Given the description of an element on the screen output the (x, y) to click on. 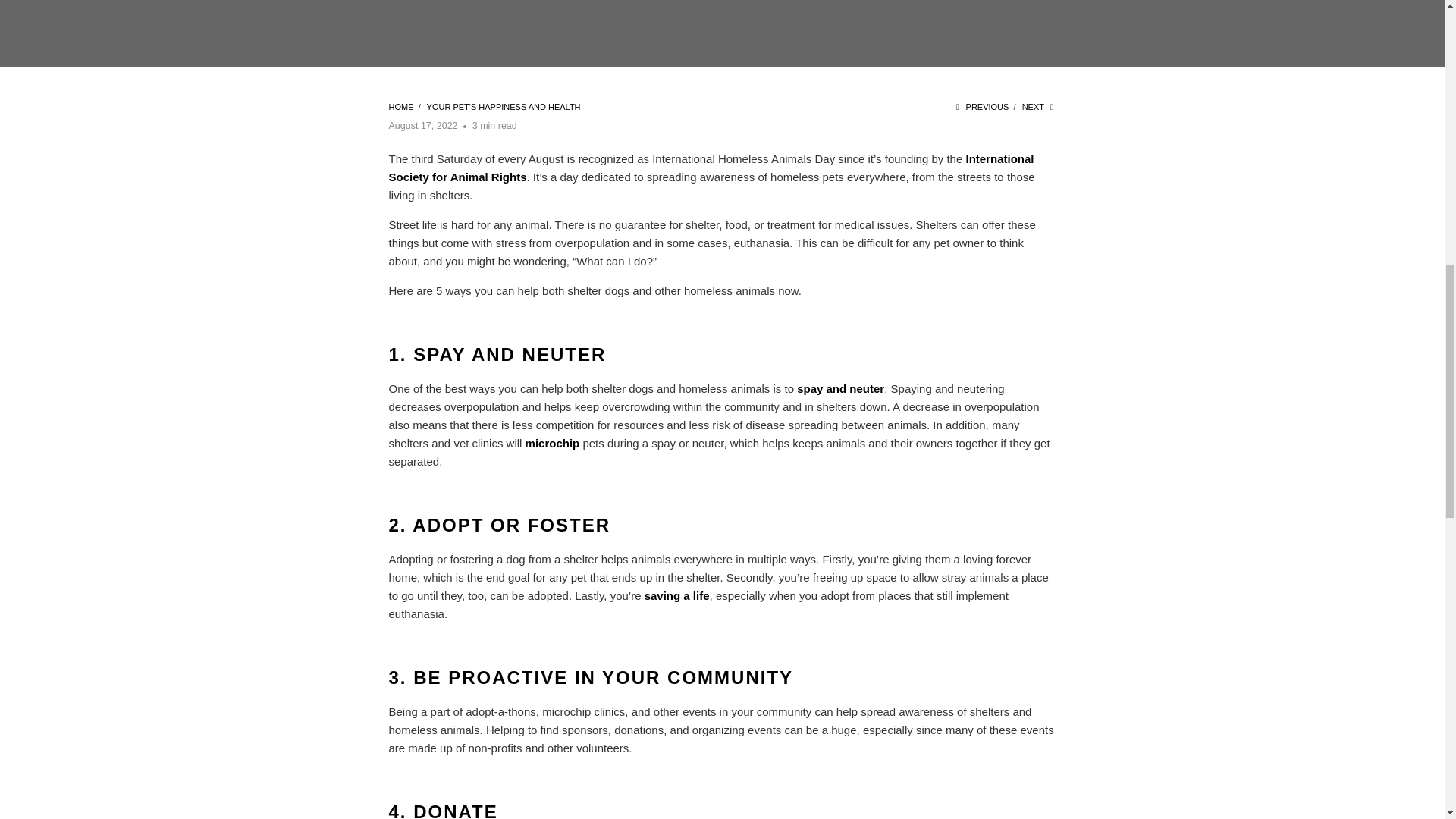
Your Pet's Happiness and Health (503, 106)
Jolly Pets (400, 106)
Health Benefits Of Spaying And Neutering Your Dog (839, 388)
10 Pet Loss Prevention Tips (552, 442)
5 Benefits Of Adopting A Dog (677, 594)
International Homeless Animals Day (710, 167)
